Given the description of an element on the screen output the (x, y) to click on. 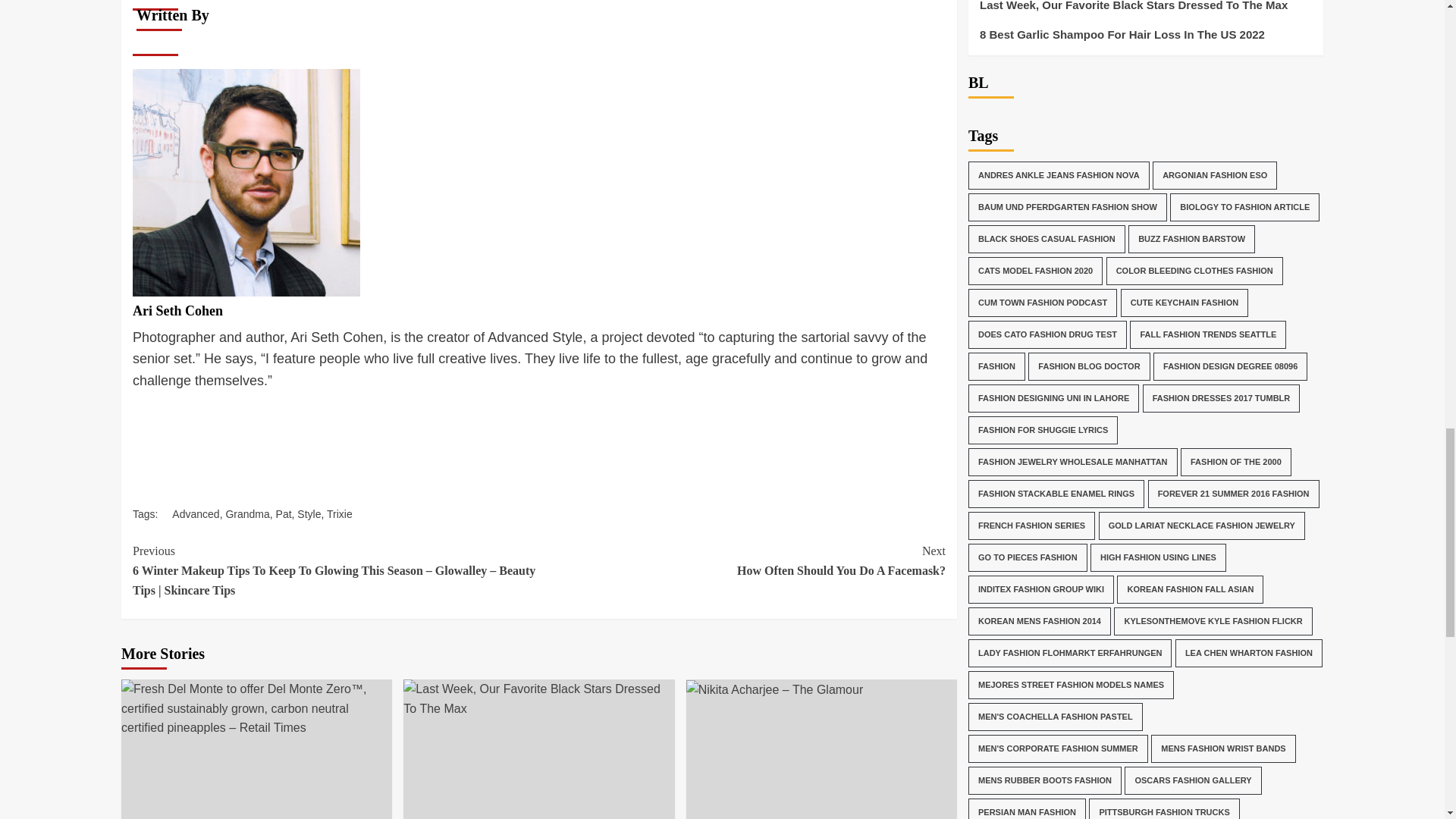
Last Week, Our Favorite Black Stars Dressed To The Max (538, 698)
Trixie (339, 513)
Pat (284, 513)
Tags: (151, 513)
Advanced (195, 513)
Grandma (247, 513)
Style (308, 513)
